Given the description of an element on the screen output the (x, y) to click on. 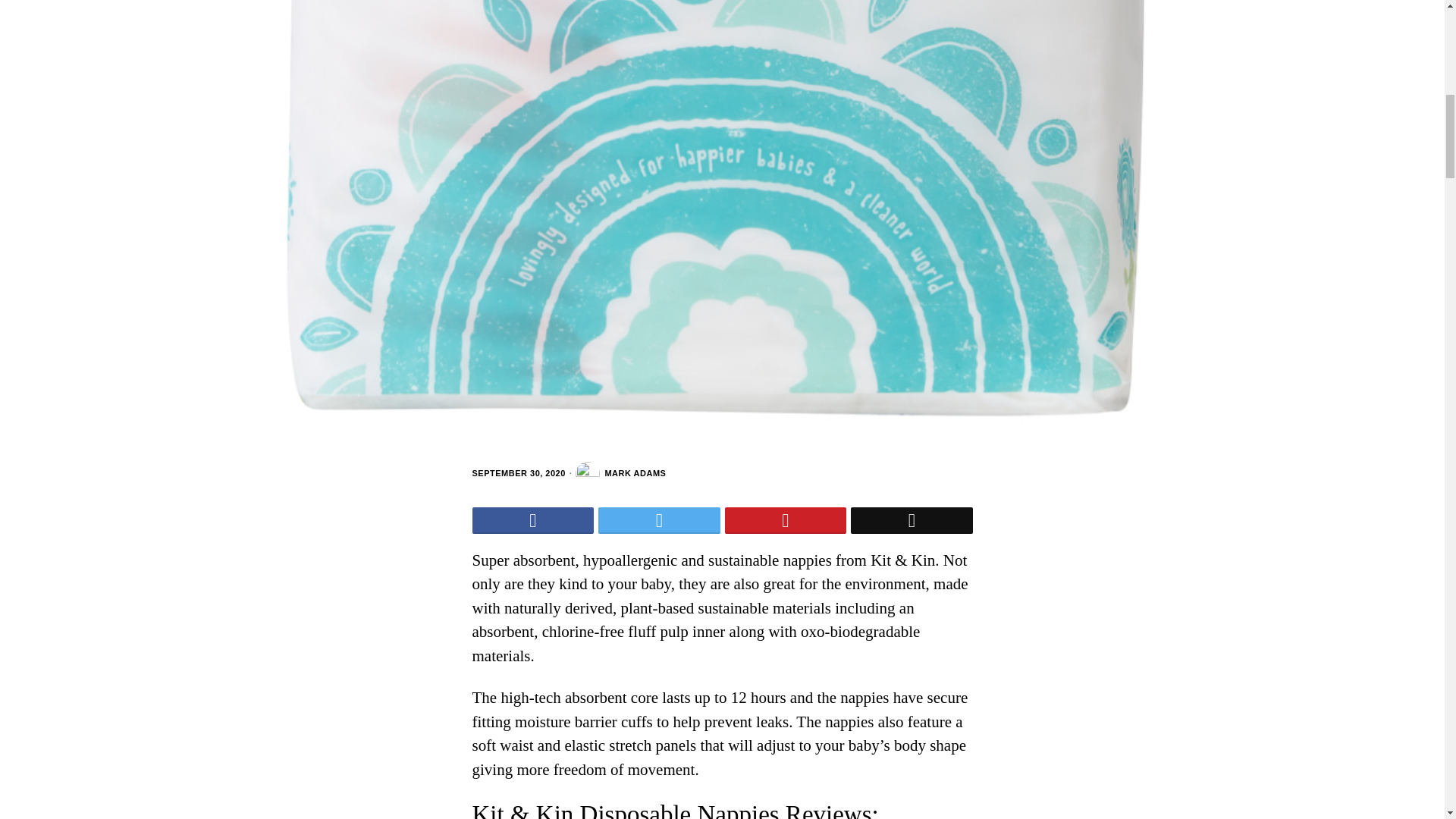
30 Sep, 2020 06:39:42 (517, 473)
MARK ADAMS (620, 473)
